Given the description of an element on the screen output the (x, y) to click on. 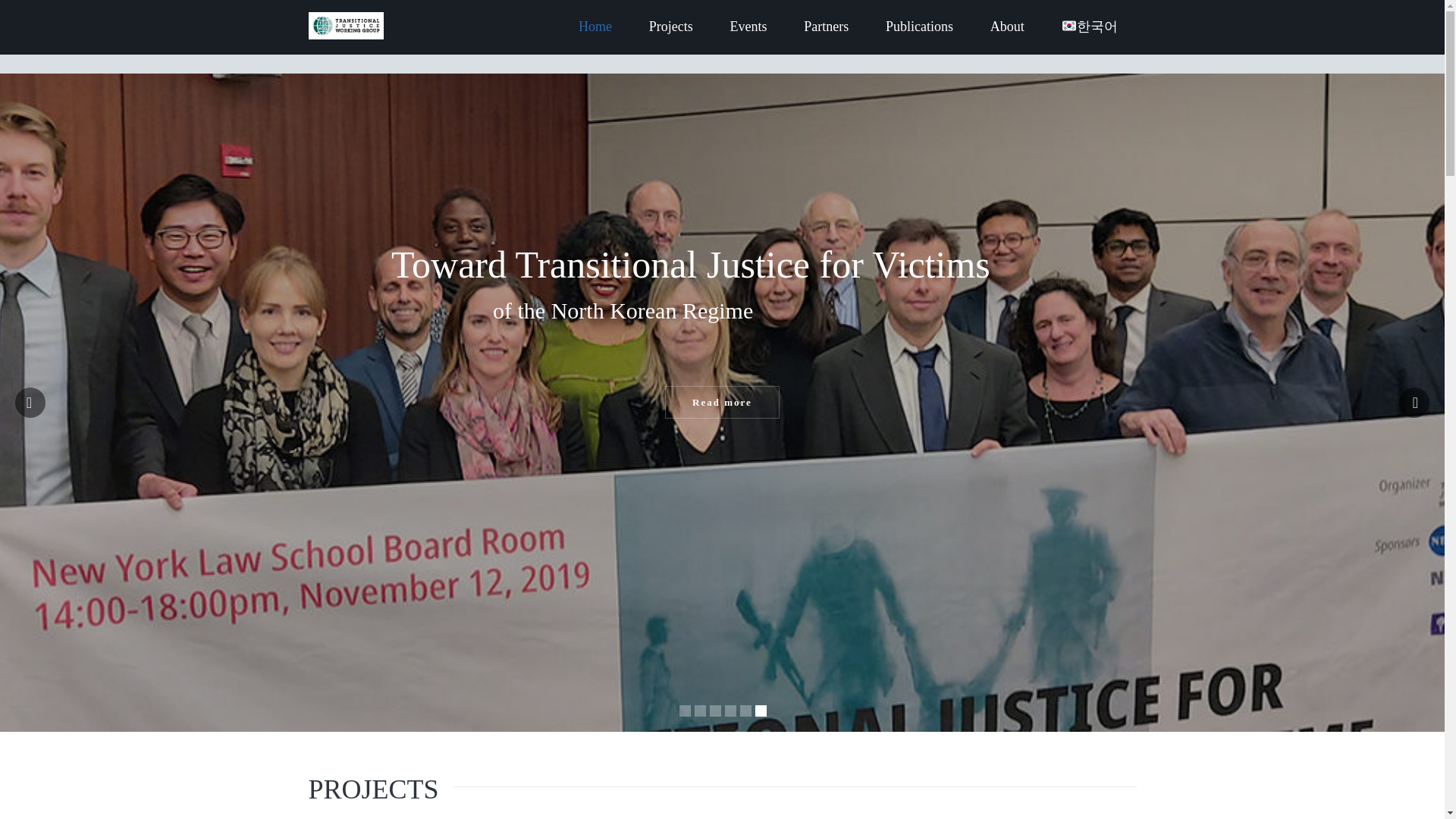
About (1007, 27)
Projects (670, 27)
Events (748, 27)
Partners (825, 27)
Publications (919, 27)
Home (595, 27)
